Given the description of an element on the screen output the (x, y) to click on. 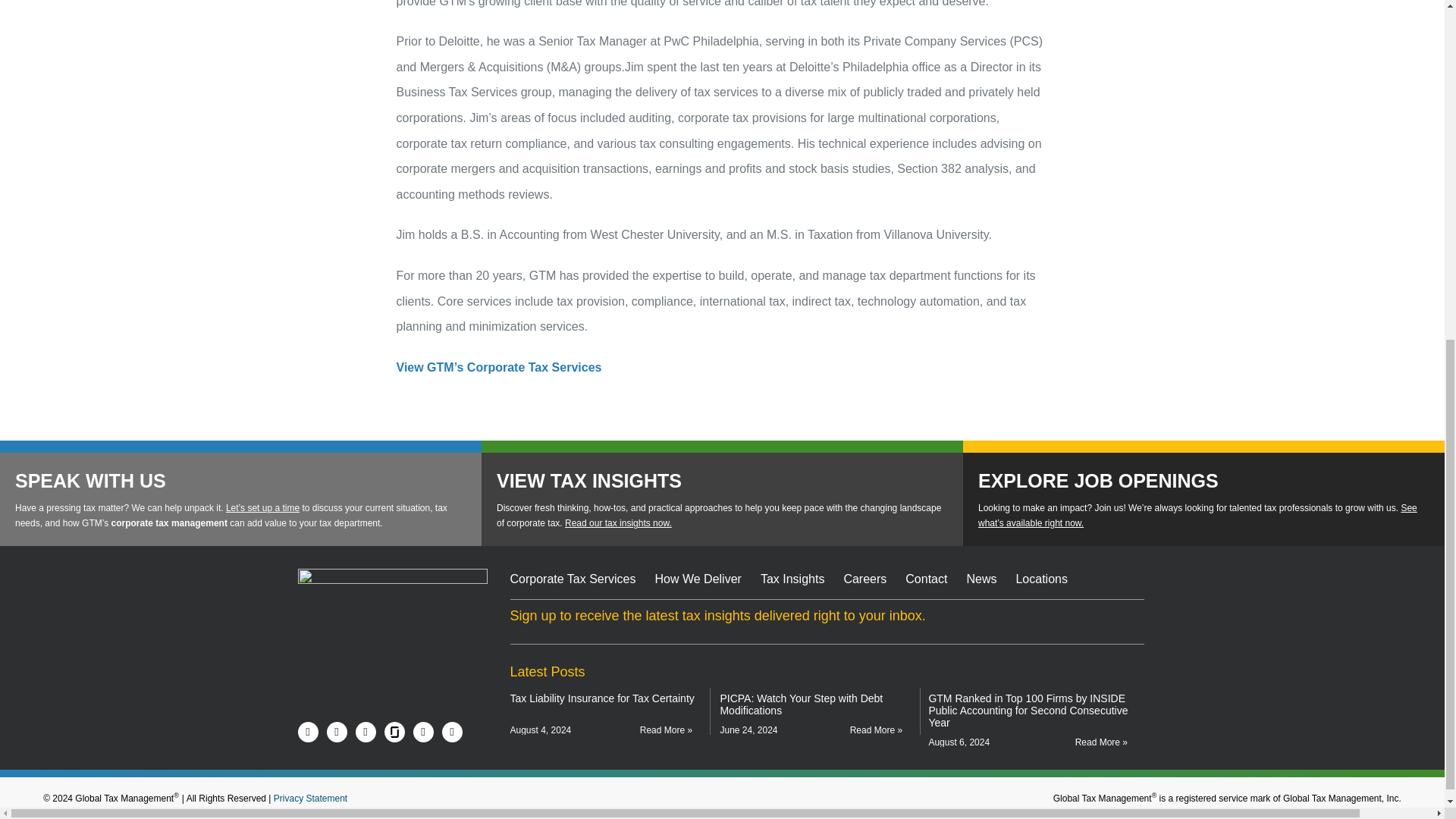
View our Glassdor Page (394, 731)
Global Tax Management (391, 600)
Global Tax Management (403, 600)
